Given the description of an element on the screen output the (x, y) to click on. 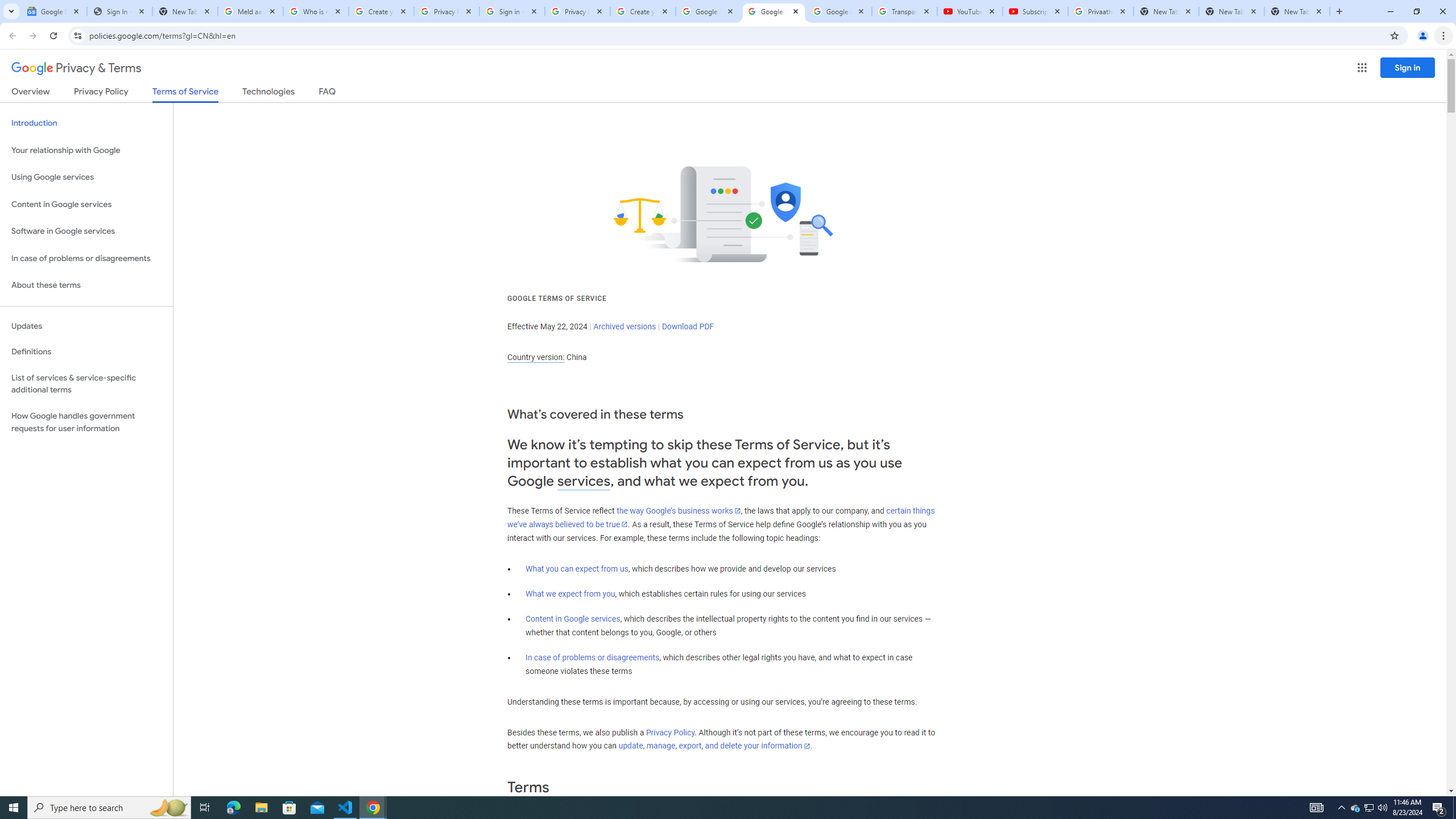
New Tab (1297, 11)
Google Account (838, 11)
Create your Google Account (381, 11)
Subscriptions - YouTube (1035, 11)
What we expect from you (570, 593)
update, manage, export, and delete your information (714, 746)
